Given the description of an element on the screen output the (x, y) to click on. 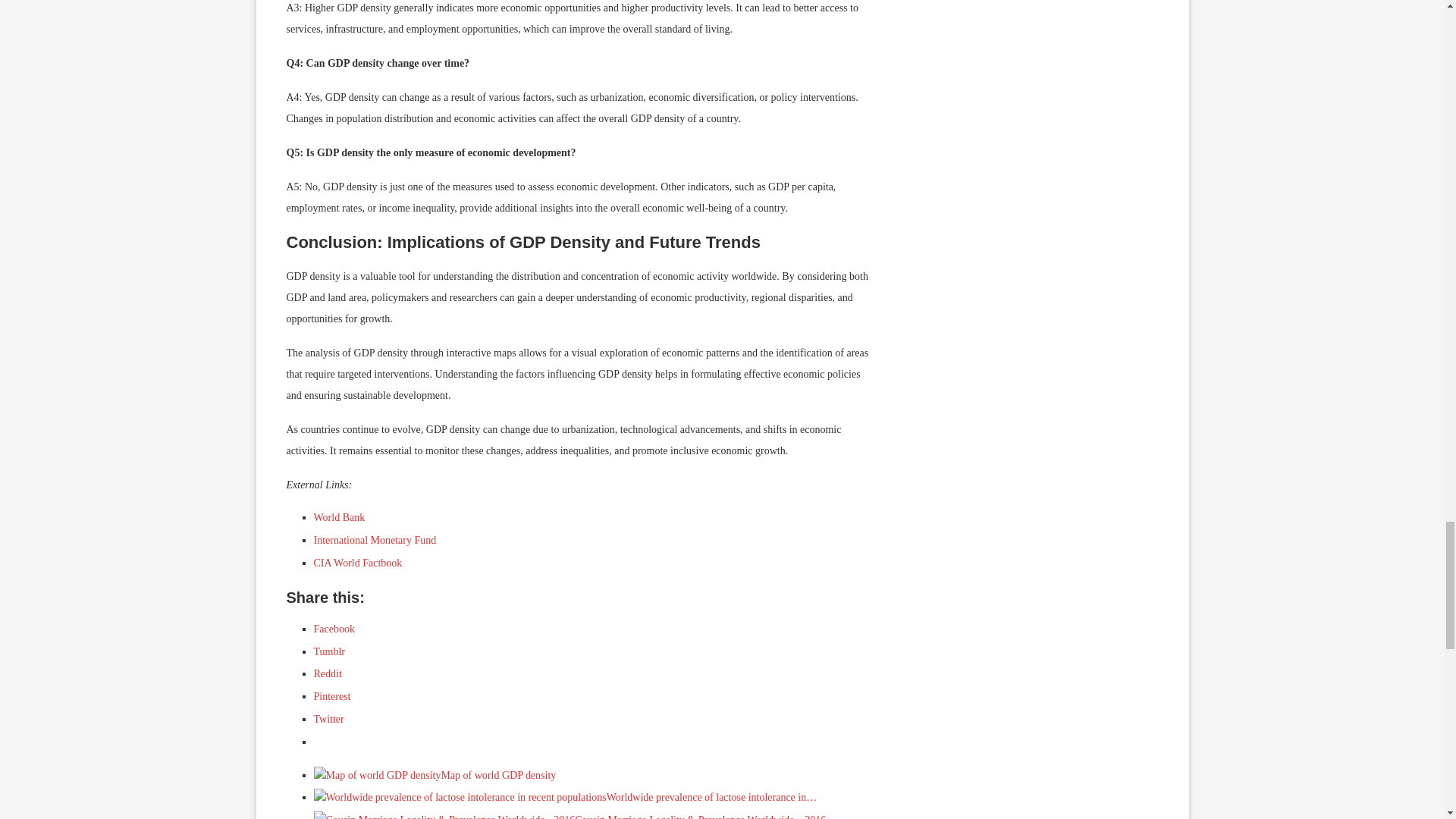
Map of world GDP density (377, 774)
Click to share on Reddit (328, 673)
Reddit (328, 673)
World Bank (339, 517)
Pinterest (332, 696)
CIA World Factbook (358, 562)
Twitter (328, 718)
Facebook (334, 628)
Map of world GDP density (435, 774)
International Monetary Fund (375, 540)
